Given the description of an element on the screen output the (x, y) to click on. 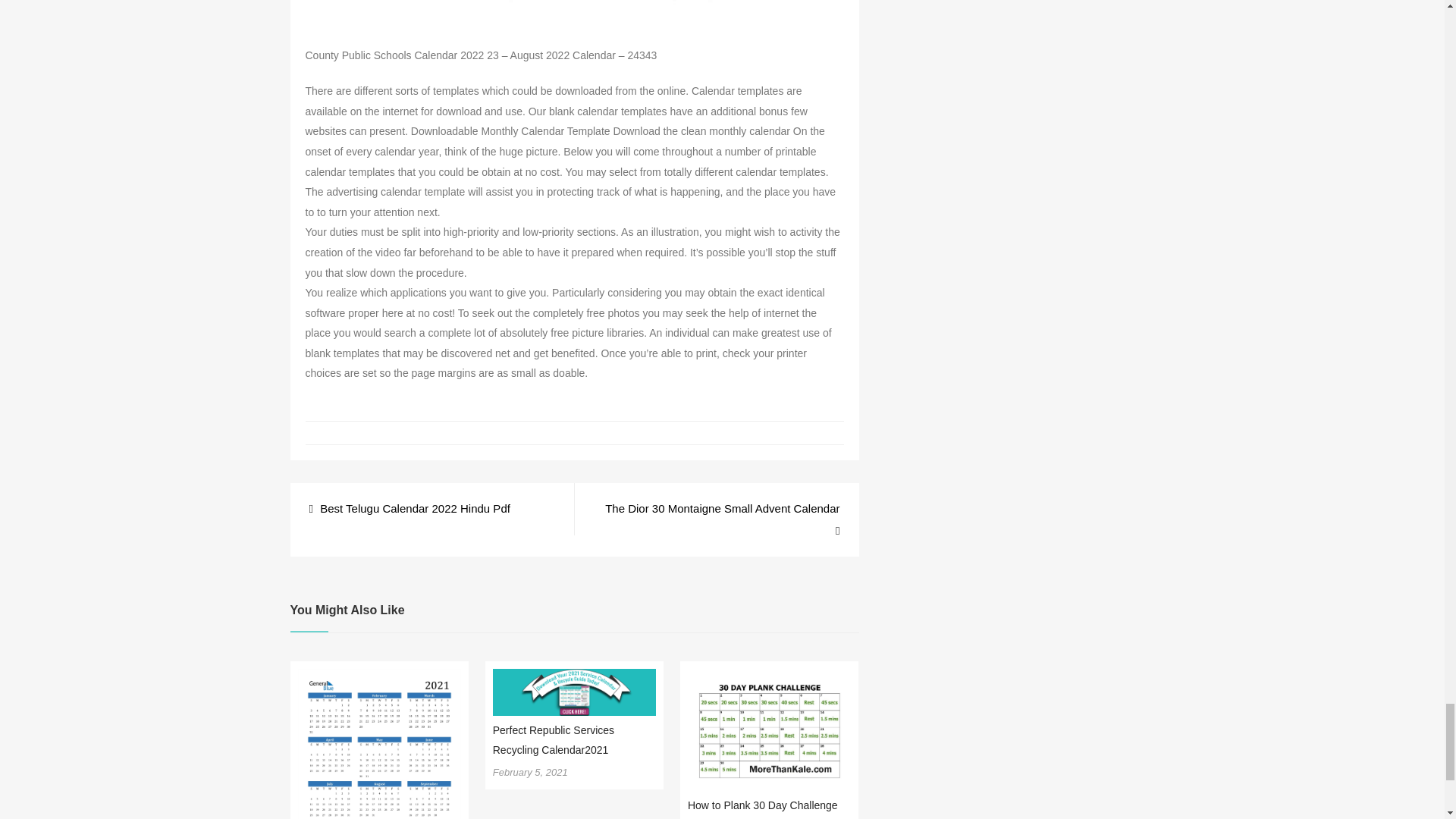
The Dior 30 Montaigne Small Advent Calendar (716, 519)
How to Plank 30 Day Challenge Printable (762, 809)
Best Telugu Calendar 2022 Hindu Pdf (409, 508)
Perfect Republic Services Recycling Calendar2021 (553, 739)
